Given the description of an element on the screen output the (x, y) to click on. 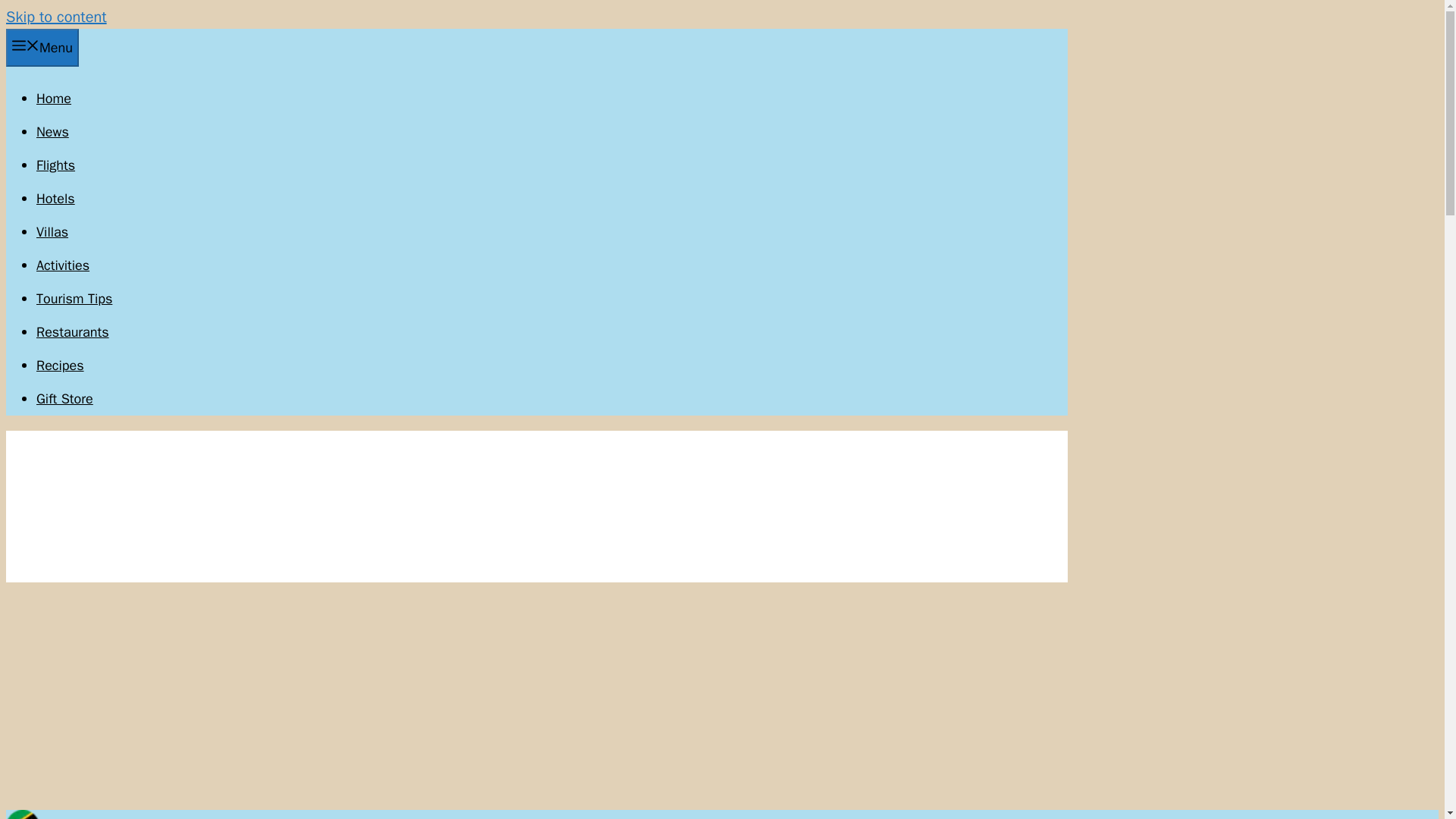
Luxury Nevis Hotels (55, 198)
News (52, 131)
Tourism Tips (74, 298)
Menu (41, 47)
Skip to content (55, 16)
Hotels (55, 198)
Gift Store (64, 398)
Nevis Villa Rentals (52, 231)
Nevis Tourism Tips and Tricks (74, 298)
Restaurants (72, 331)
